Given the description of an element on the screen output the (x, y) to click on. 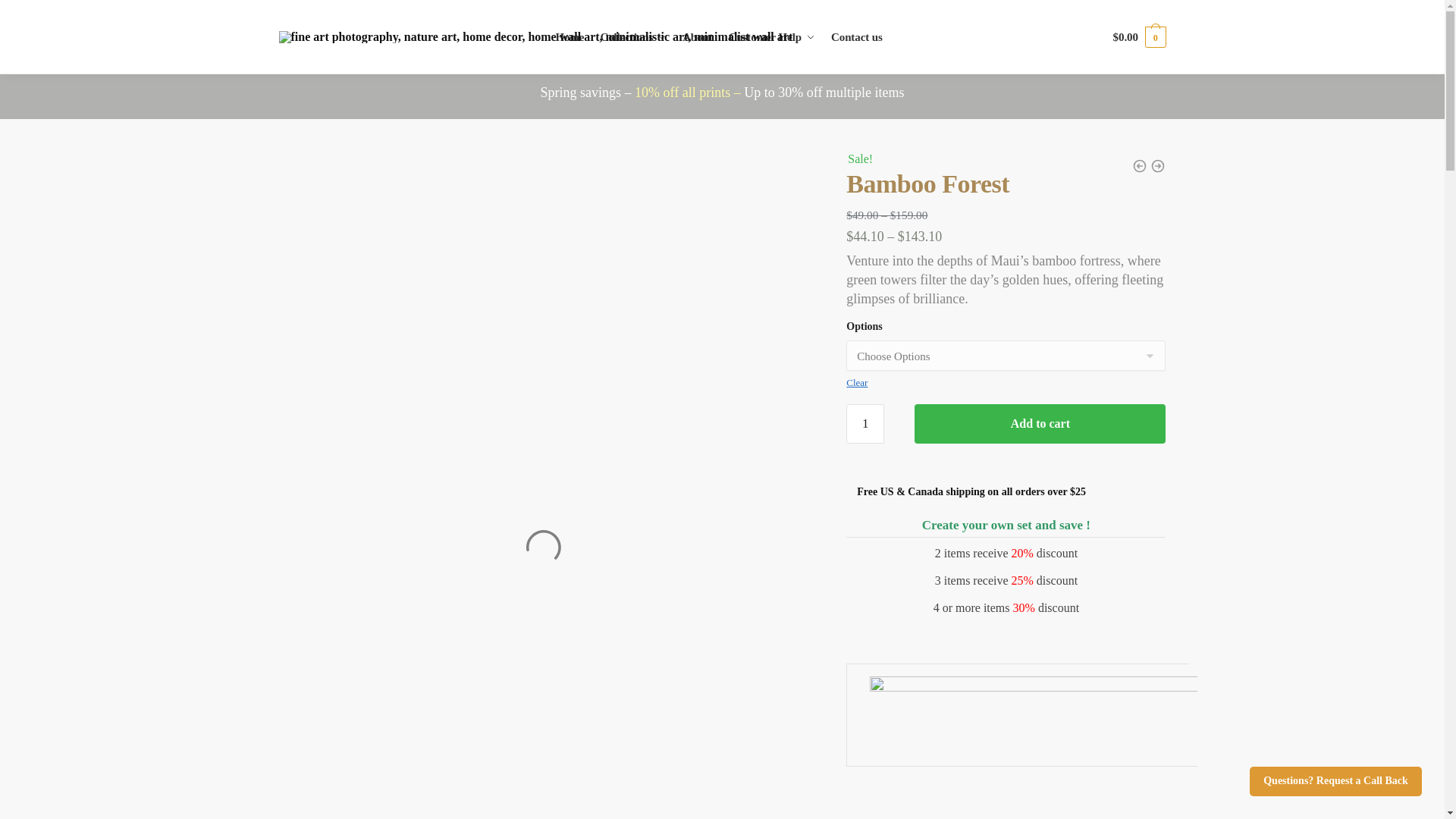
Home (571, 37)
Collections (633, 37)
Customer Help (771, 37)
Questions? Request a Call Back (1335, 781)
About (698, 37)
Add to cart (1040, 423)
Clear (856, 382)
1 (864, 423)
View your shopping cart (1139, 36)
Contact us (856, 37)
